Given the description of an element on the screen output the (x, y) to click on. 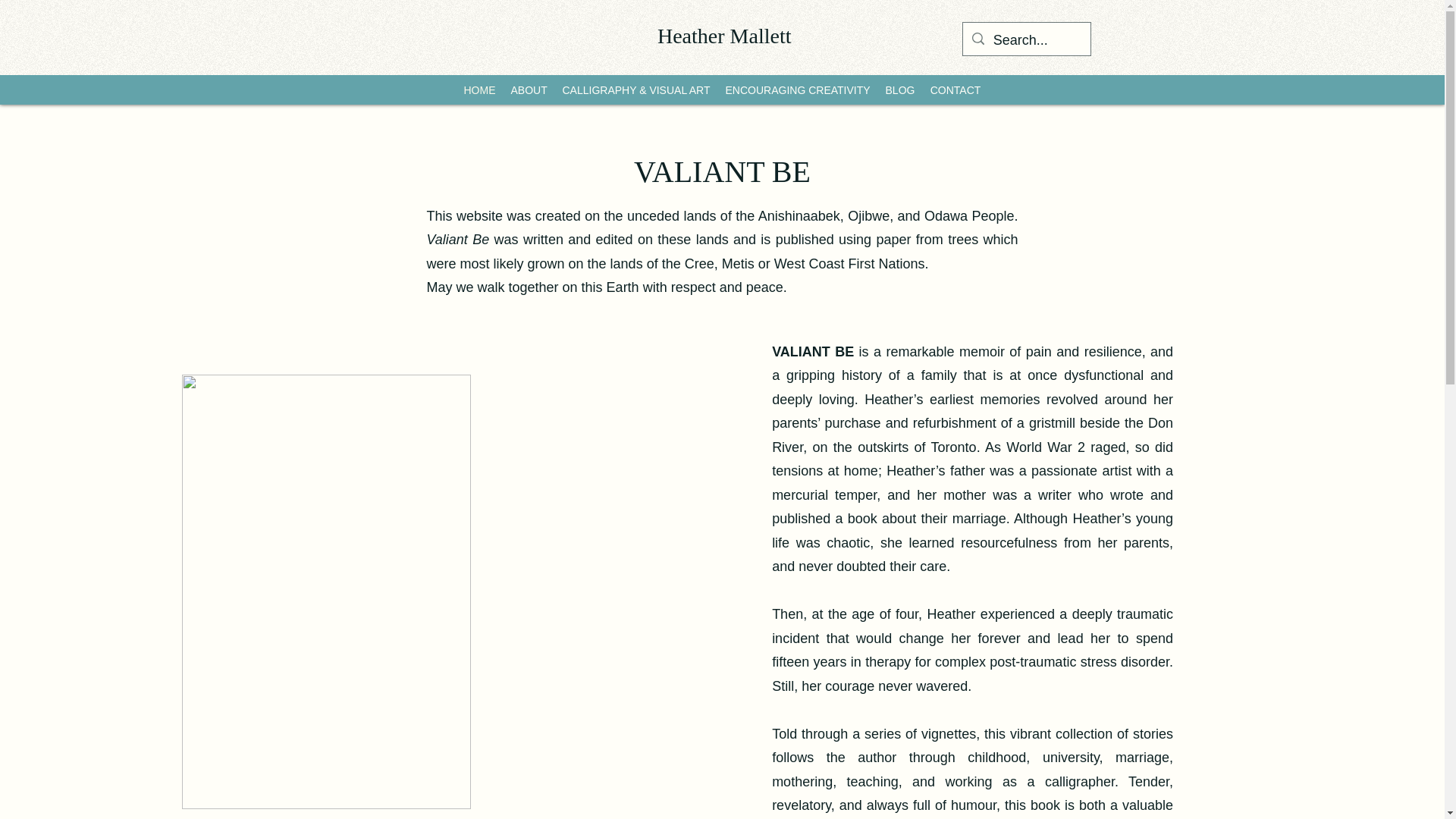
CONTACT (954, 89)
ENCOURAGING CREATIVITY (797, 89)
HOME (478, 89)
BLOG (899, 89)
Book Cover.jpeg (326, 591)
ABOUT (528, 89)
